Given the description of an element on the screen output the (x, y) to click on. 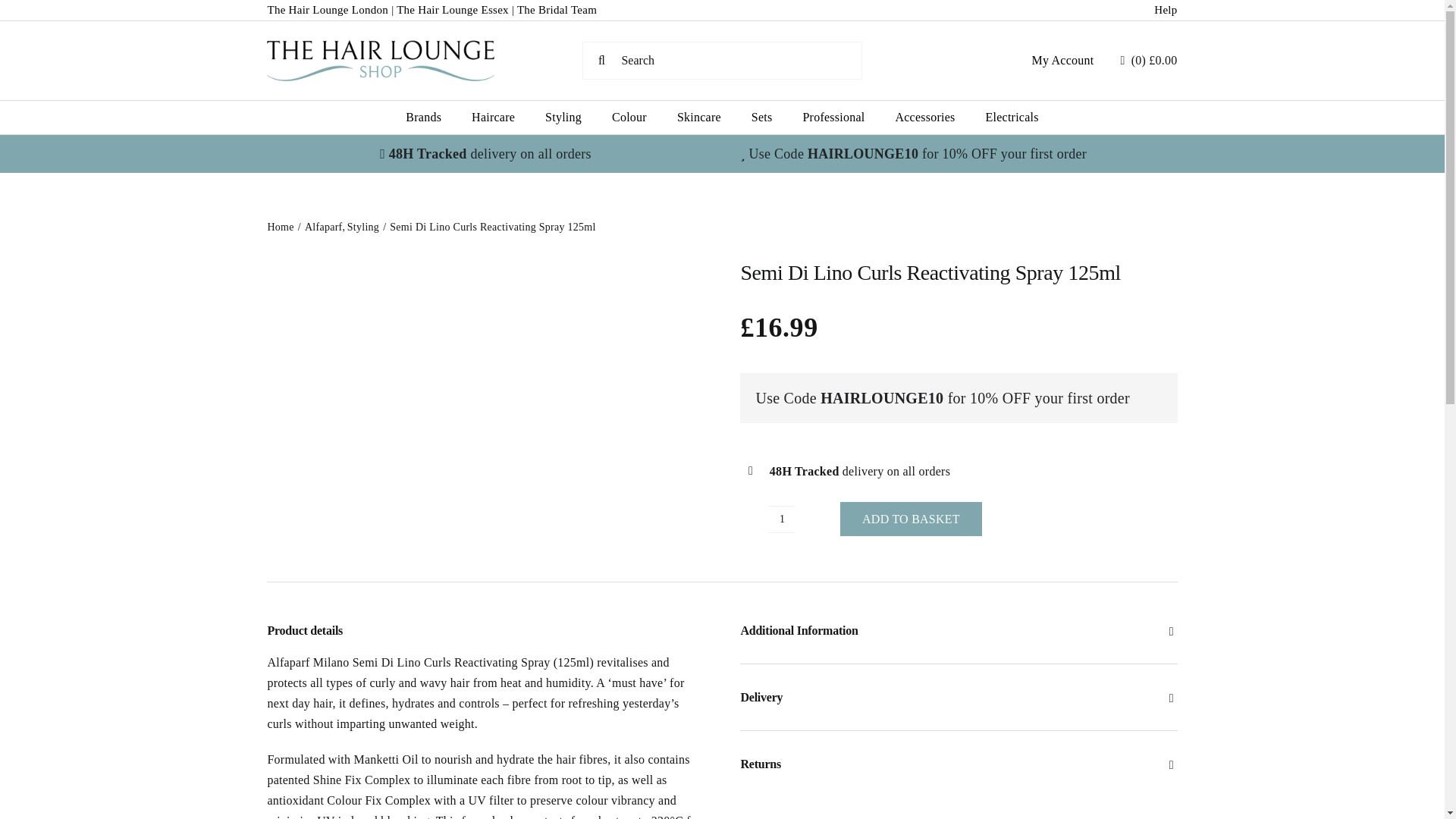
The Hair Lounge London (327, 9)
Brands (423, 117)
The Hair Lounge Essex (452, 9)
Skincare (698, 117)
Styling (563, 117)
The Bridal Team (556, 9)
My Account (1062, 60)
Help (1165, 9)
Log In (1173, 233)
Start shopping (1147, 60)
